Given the description of an element on the screen output the (x, y) to click on. 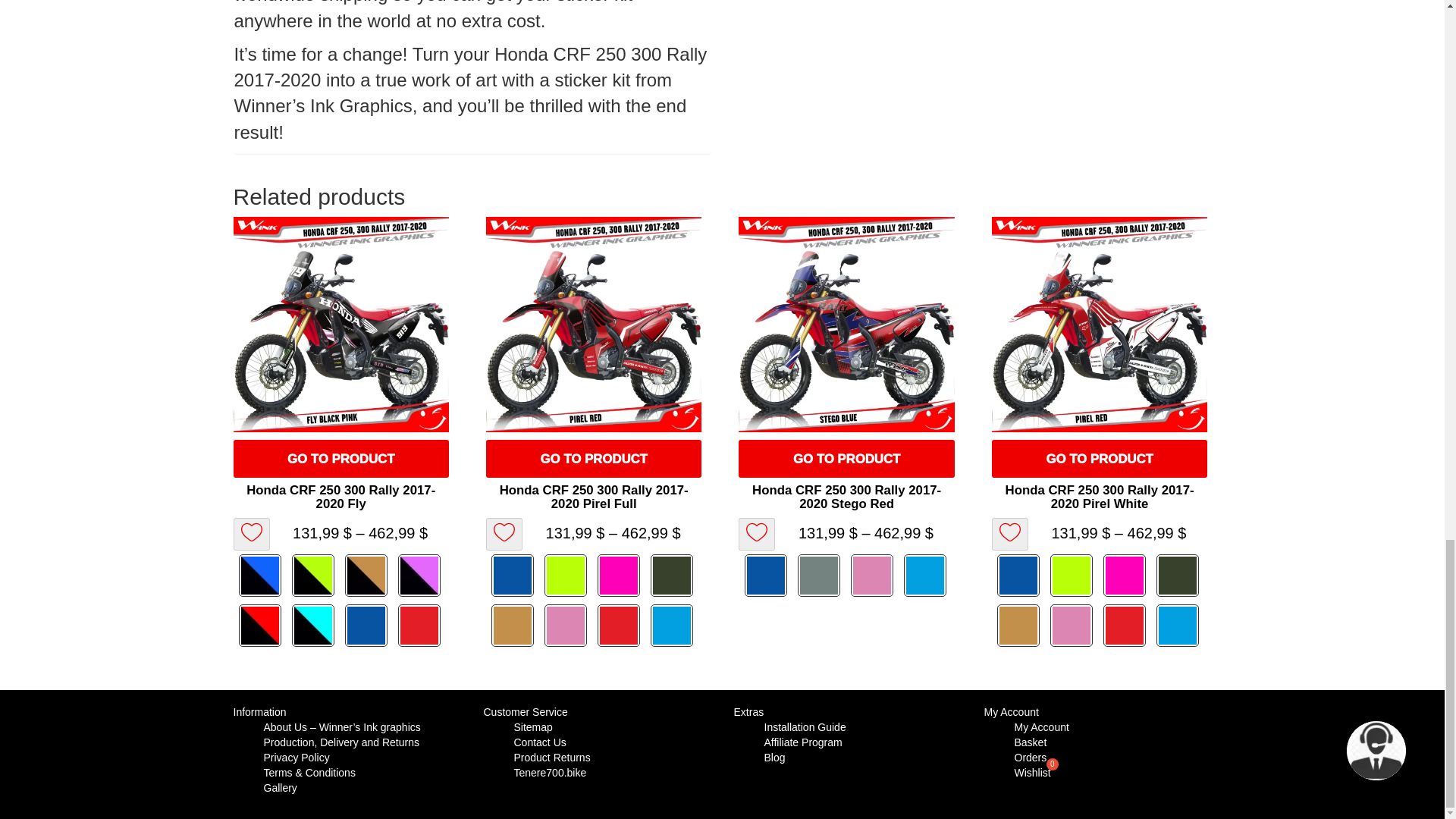
Black-Blue (260, 575)
GO TO PRODUCT (340, 457)
Black-Lime (314, 575)
Black-Red (260, 625)
Black-Nude (367, 575)
Black-Pink (420, 575)
Black-Sky (314, 625)
